Given the description of an element on the screen output the (x, y) to click on. 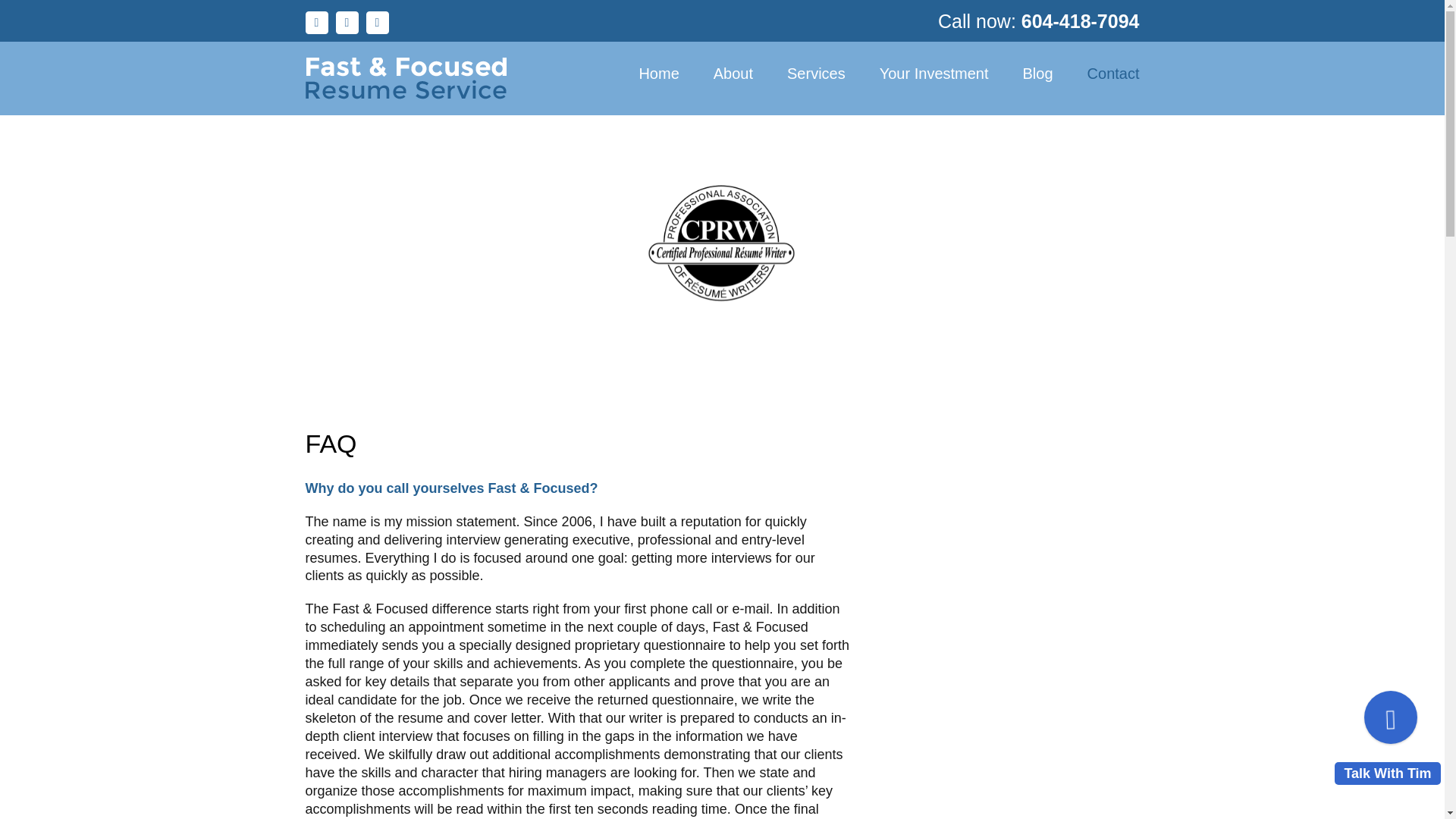
Your Investment (933, 73)
604-418-7094 (1081, 20)
Facebook (315, 22)
X (346, 22)
LinkedIn (376, 22)
Facebook (315, 22)
LinkedIn (376, 22)
X (346, 22)
Services (816, 73)
